Given the description of an element on the screen output the (x, y) to click on. 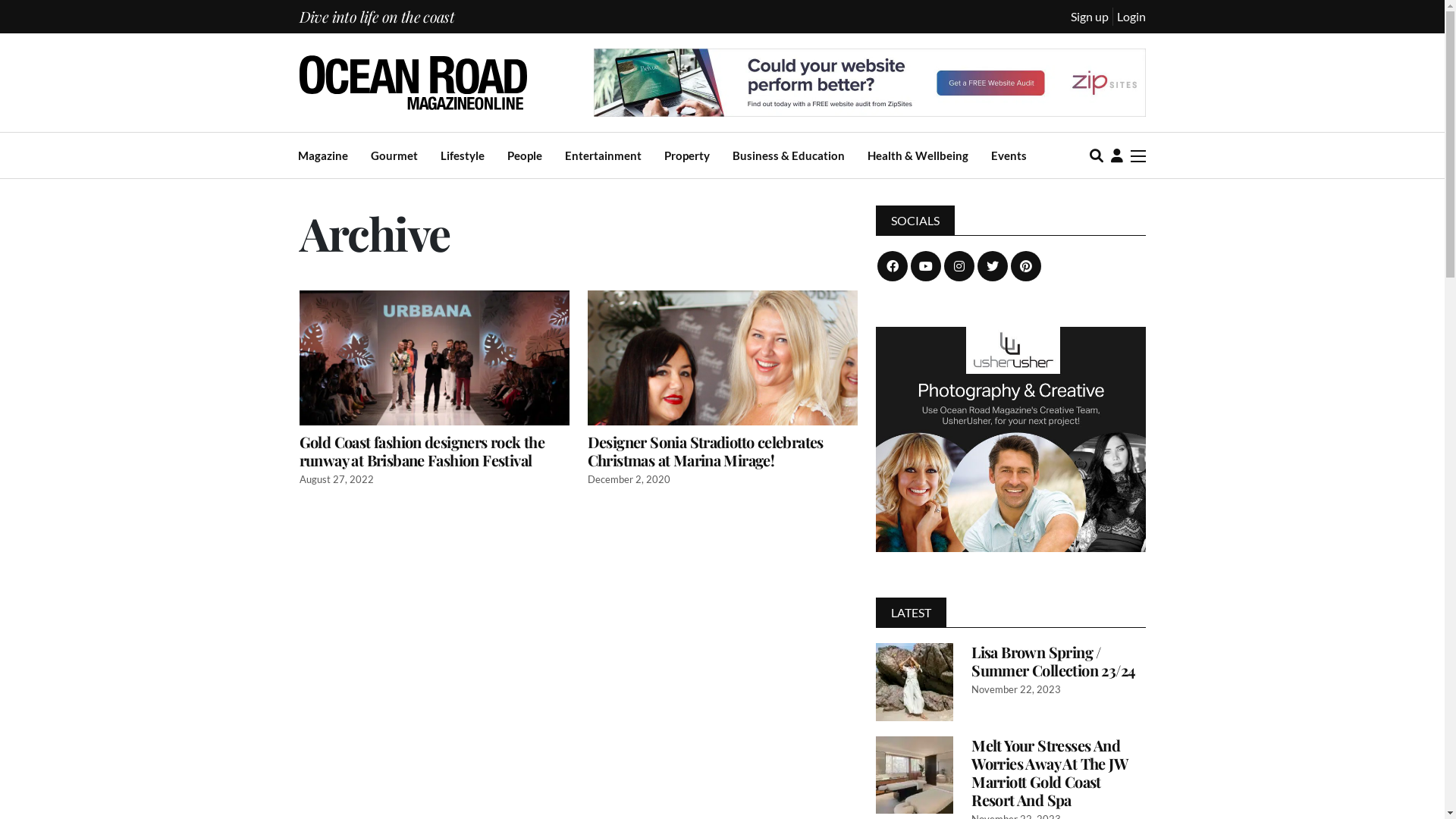
Lifestyle Element type: text (461, 155)
Entertainment Element type: text (602, 155)
Property Element type: text (686, 155)
Gourmet Element type: text (393, 155)
Sign up Element type: text (1089, 16)
Lisa Brown Spring / Summer Collection 23/24 Element type: text (1058, 669)
Magazine Element type: text (322, 155)
Login Element type: text (1130, 16)
People Element type: text (523, 155)
Business & Education Element type: text (788, 155)
Health & Wellbeing Element type: text (917, 155)
Events Element type: text (1008, 155)
